Given the description of an element on the screen output the (x, y) to click on. 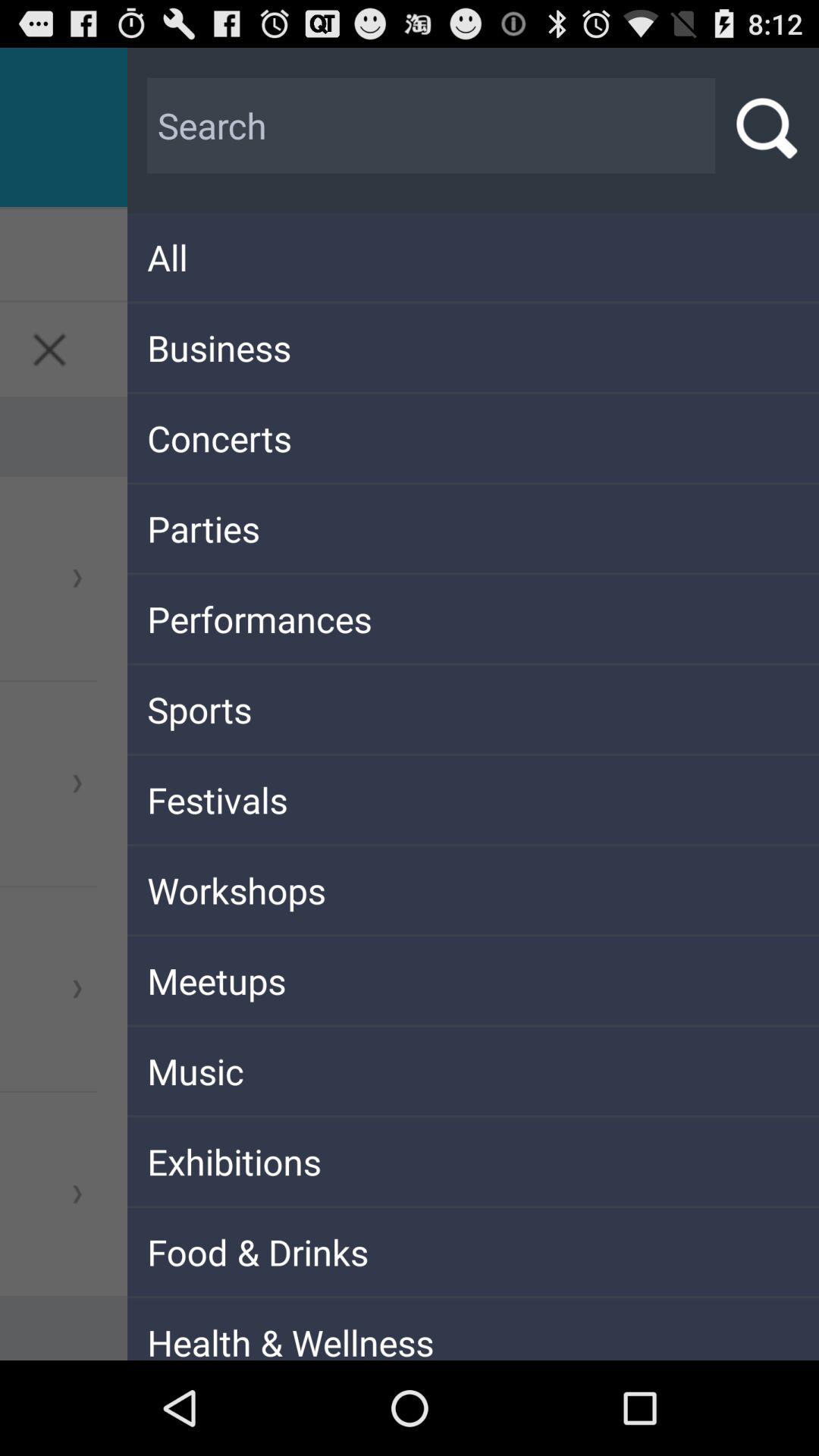
click the search text filed (431, 125)
click on the third arrow symbol from top (76, 988)
